Given the description of an element on the screen output the (x, y) to click on. 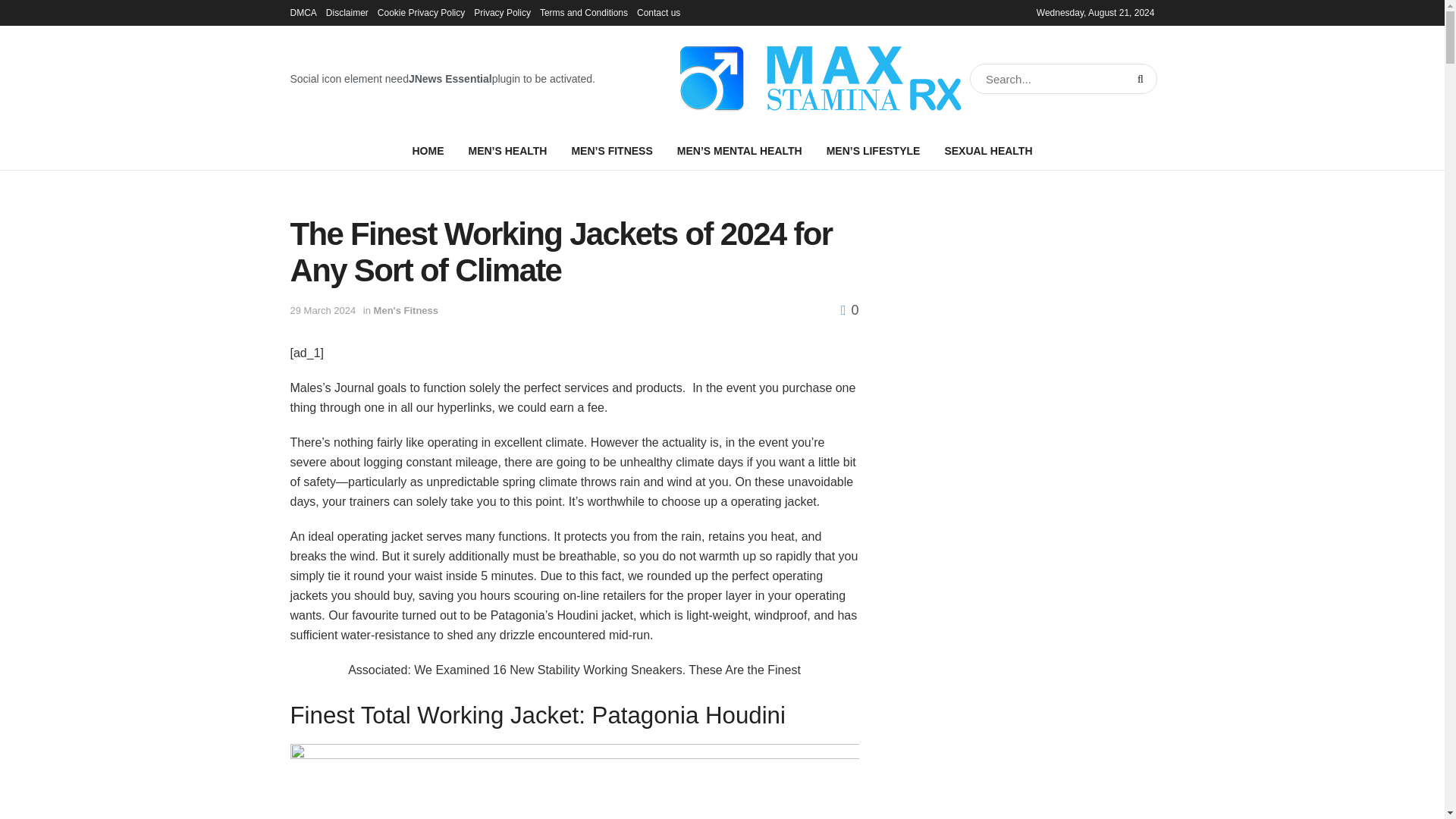
Disclaimer (347, 12)
SEXUAL HEALTH (987, 150)
Contact us (658, 12)
Men's Fitness (406, 310)
Terms and Conditions (583, 12)
Privacy Policy (502, 12)
DMCA (302, 12)
0 (850, 309)
29 March 2024 (322, 310)
HOME (426, 150)
